Given the description of an element on the screen output the (x, y) to click on. 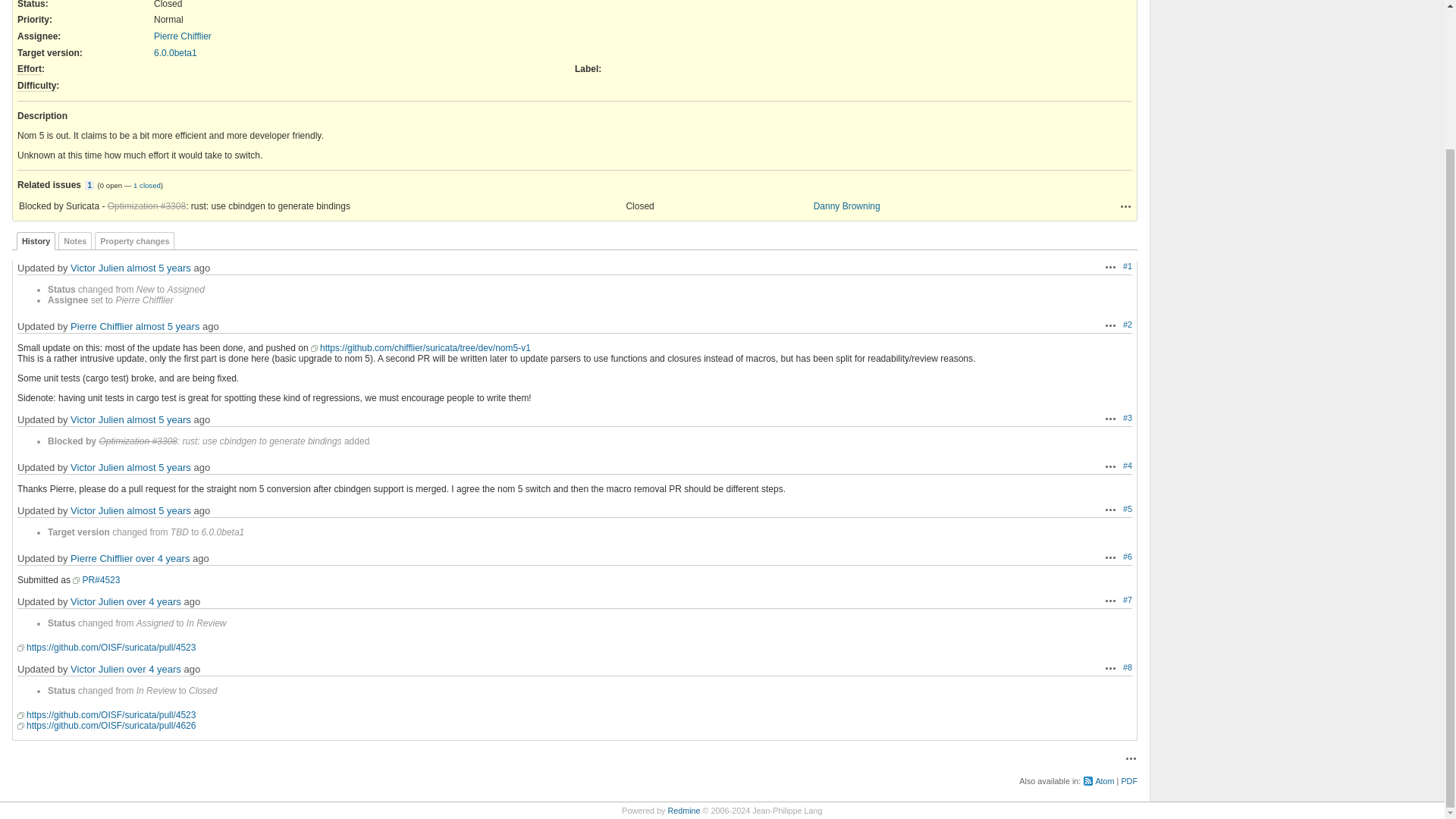
Victor Julien (96, 267)
Property changes (134, 240)
Actions (1110, 557)
Actions (1125, 205)
Actions (1110, 418)
History (35, 240)
Danny Browning (846, 205)
Actions (1125, 205)
Notes (74, 240)
Actions (1110, 325)
